Given the description of an element on the screen output the (x, y) to click on. 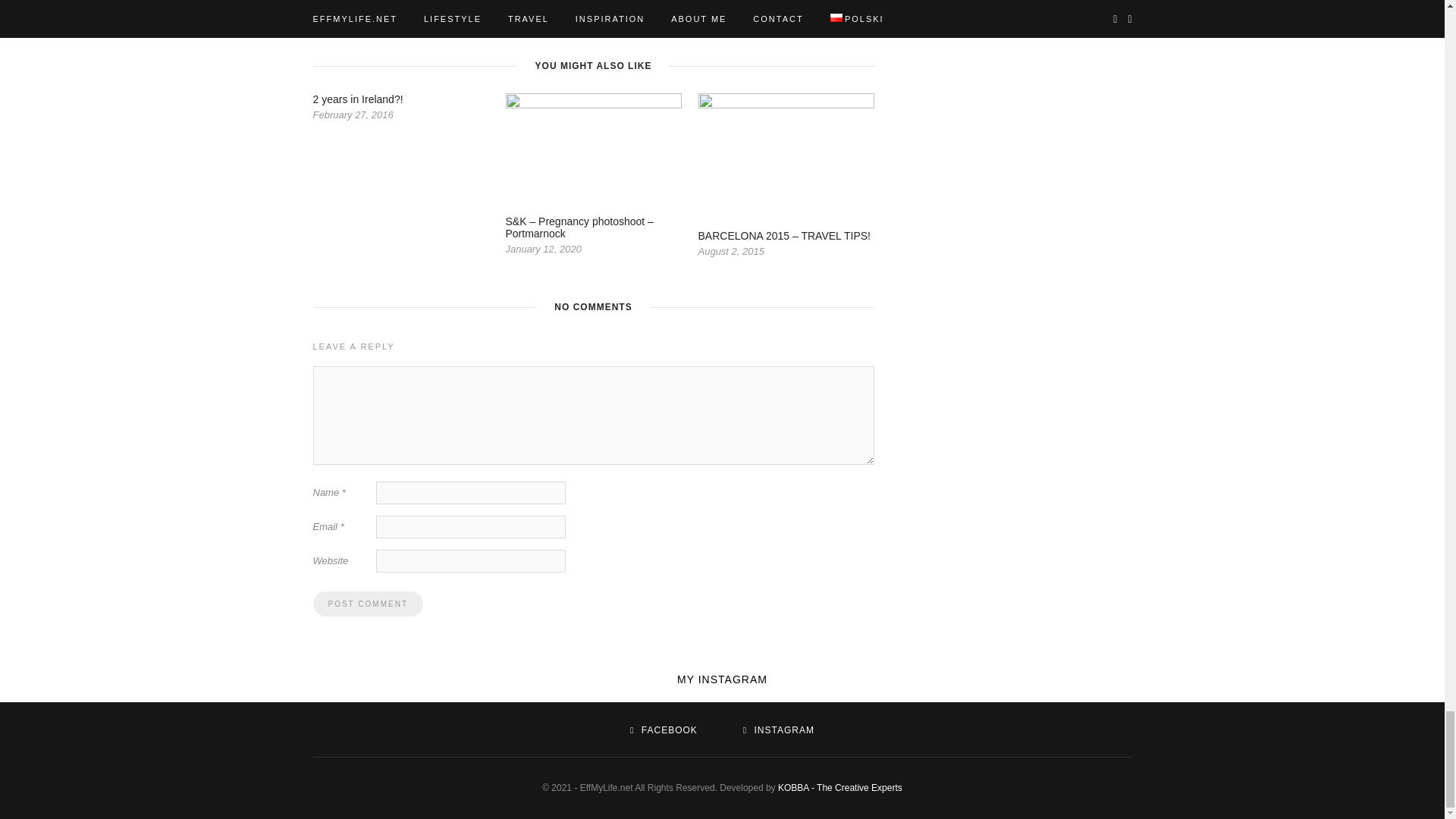
2 years in Ireland?! (358, 99)
Post Comment (367, 603)
Post Comment (367, 603)
